Given the description of an element on the screen output the (x, y) to click on. 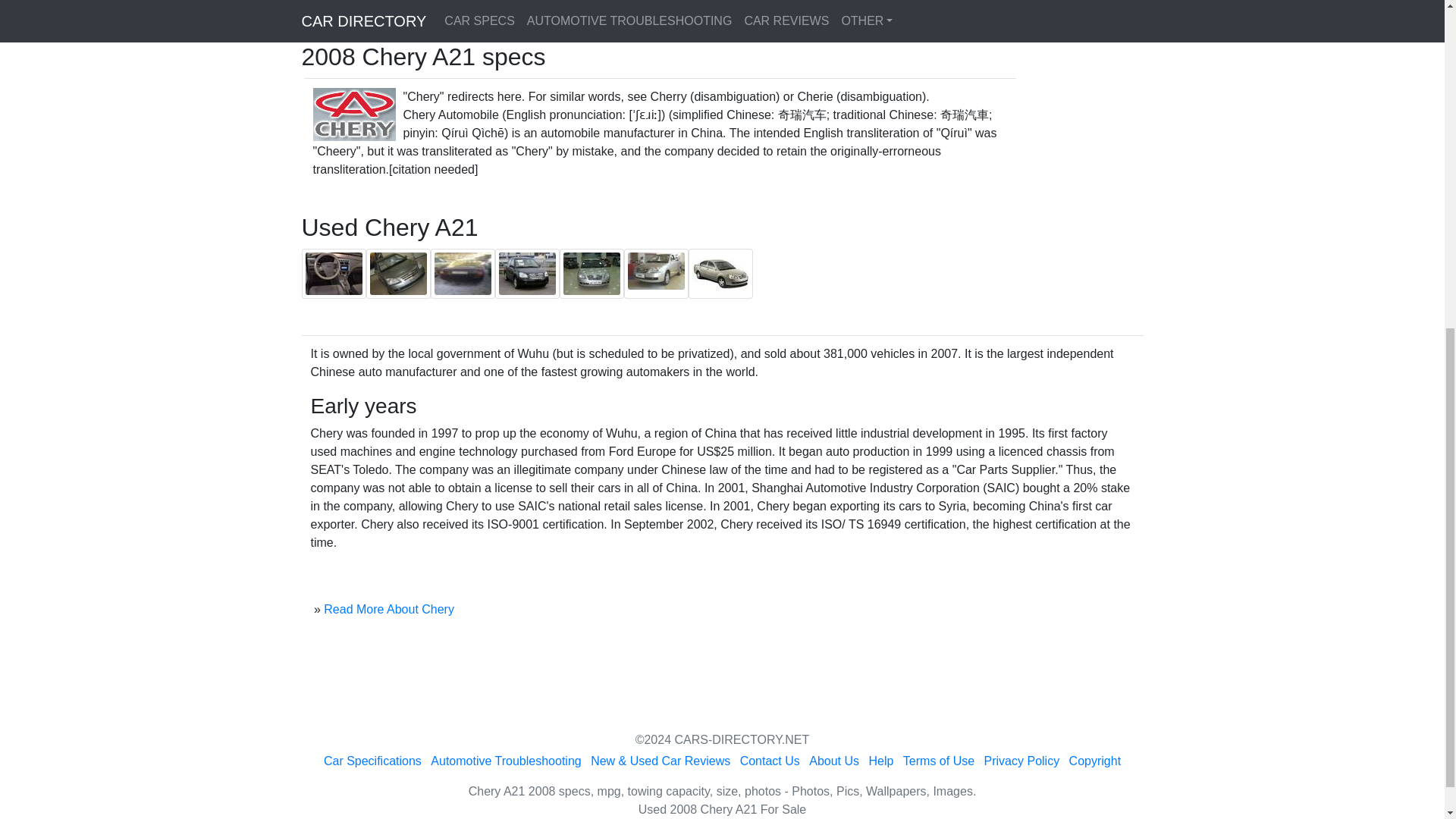
Report to Moderator (1024, 8)
Do you have problems with car? (651, 8)
Chery Specs (400, 8)
Write a Review (803, 8)
Automotive Troubleshooting (505, 760)
Chery Reviews (500, 8)
Read More About Chery (388, 608)
Contact Us (769, 760)
About Us (834, 760)
Add Comment (905, 8)
